Given the description of an element on the screen output the (x, y) to click on. 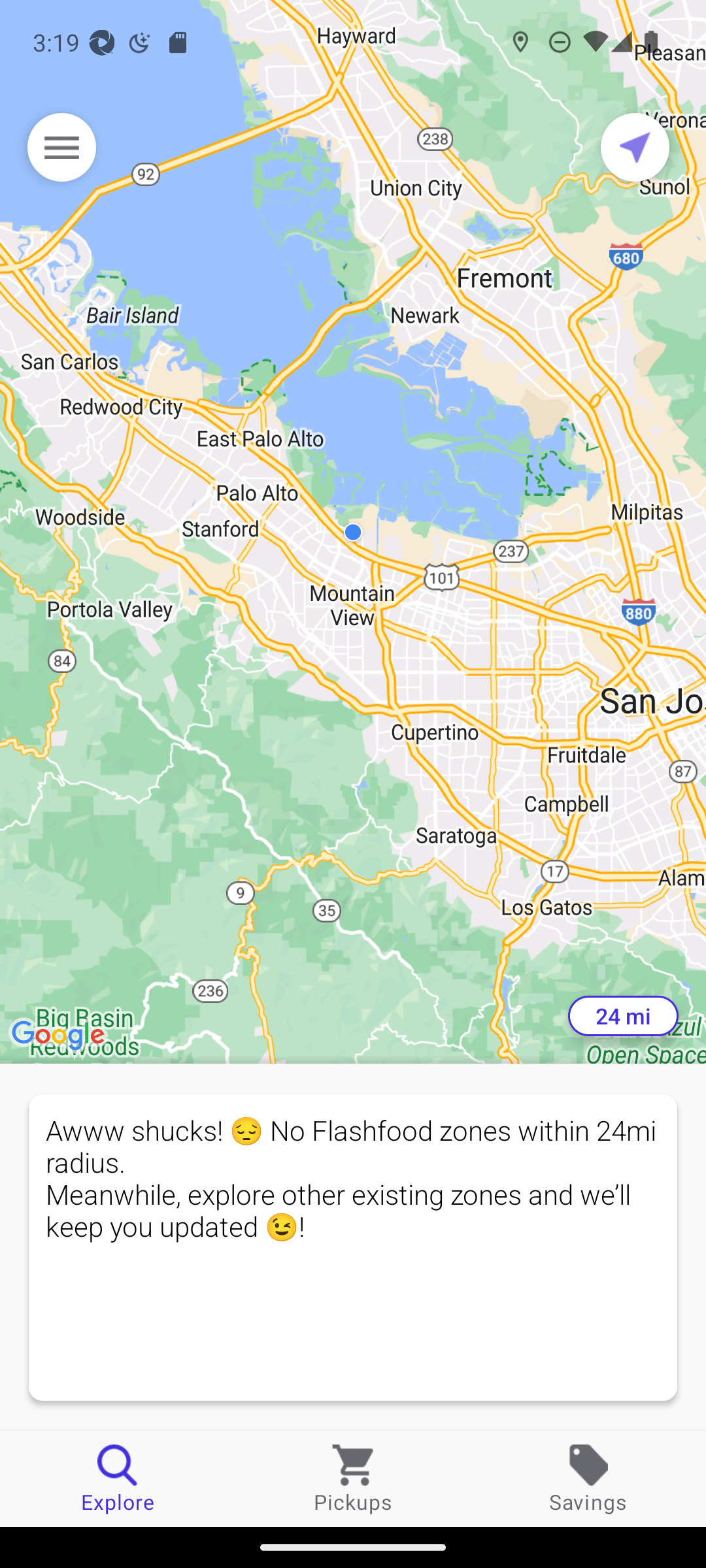
Menu (61, 146)
Current location (634, 146)
24 mi (623, 1015)
Pickups (352, 1478)
Savings (588, 1478)
